Given the description of an element on the screen output the (x, y) to click on. 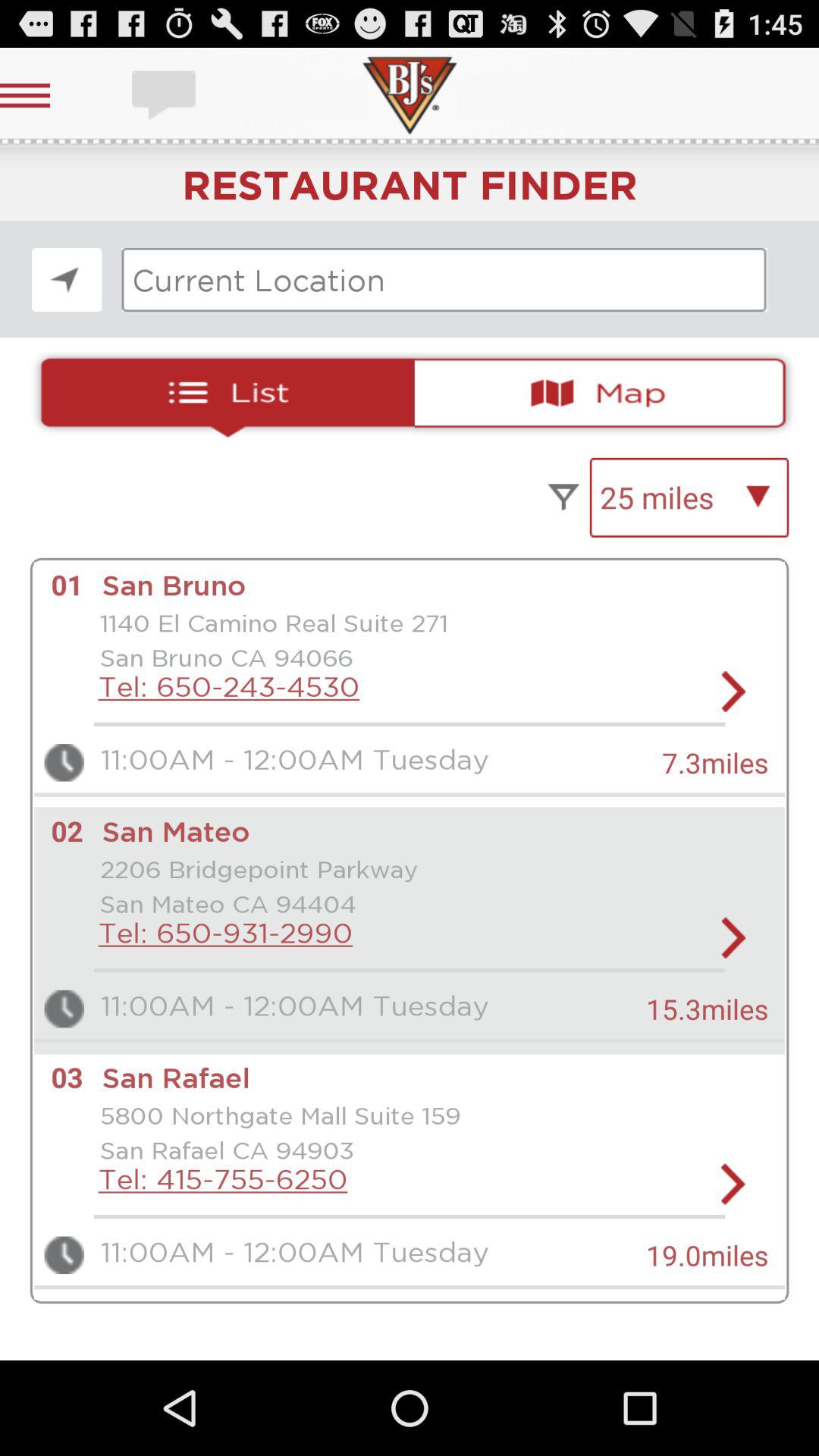
list locations (222, 392)
